Given the description of an element on the screen output the (x, y) to click on. 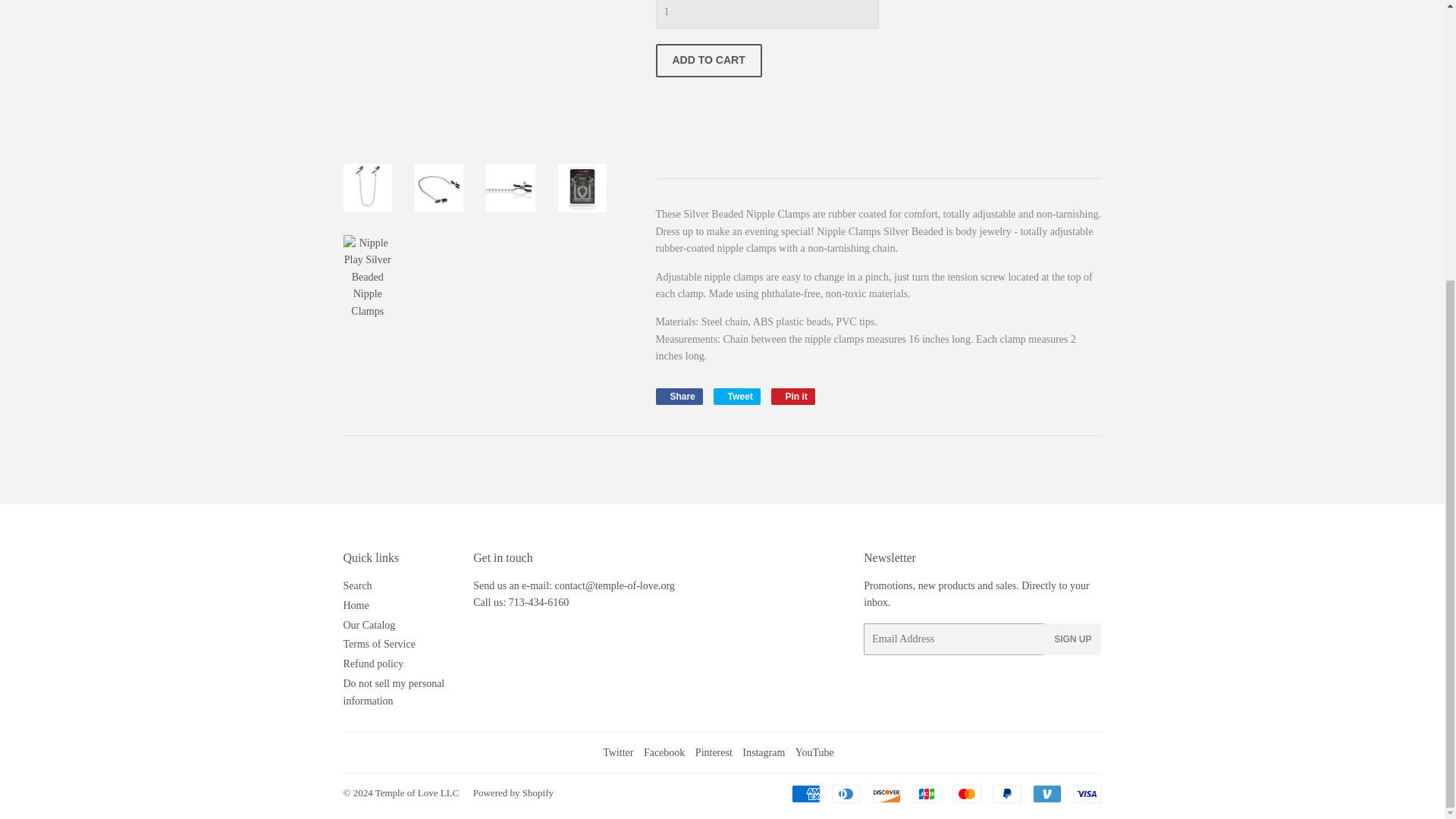
American Express (806, 793)
Venmo (1046, 793)
Temple of Love LLC on YouTube (814, 752)
Mastercard (966, 793)
1 (766, 14)
Pin on Pinterest (793, 396)
Diners Club (845, 793)
Tweet on Twitter (736, 396)
Temple of Love LLC on Facebook (663, 752)
Temple of Love LLC on Pinterest (713, 752)
